Given the description of an element on the screen output the (x, y) to click on. 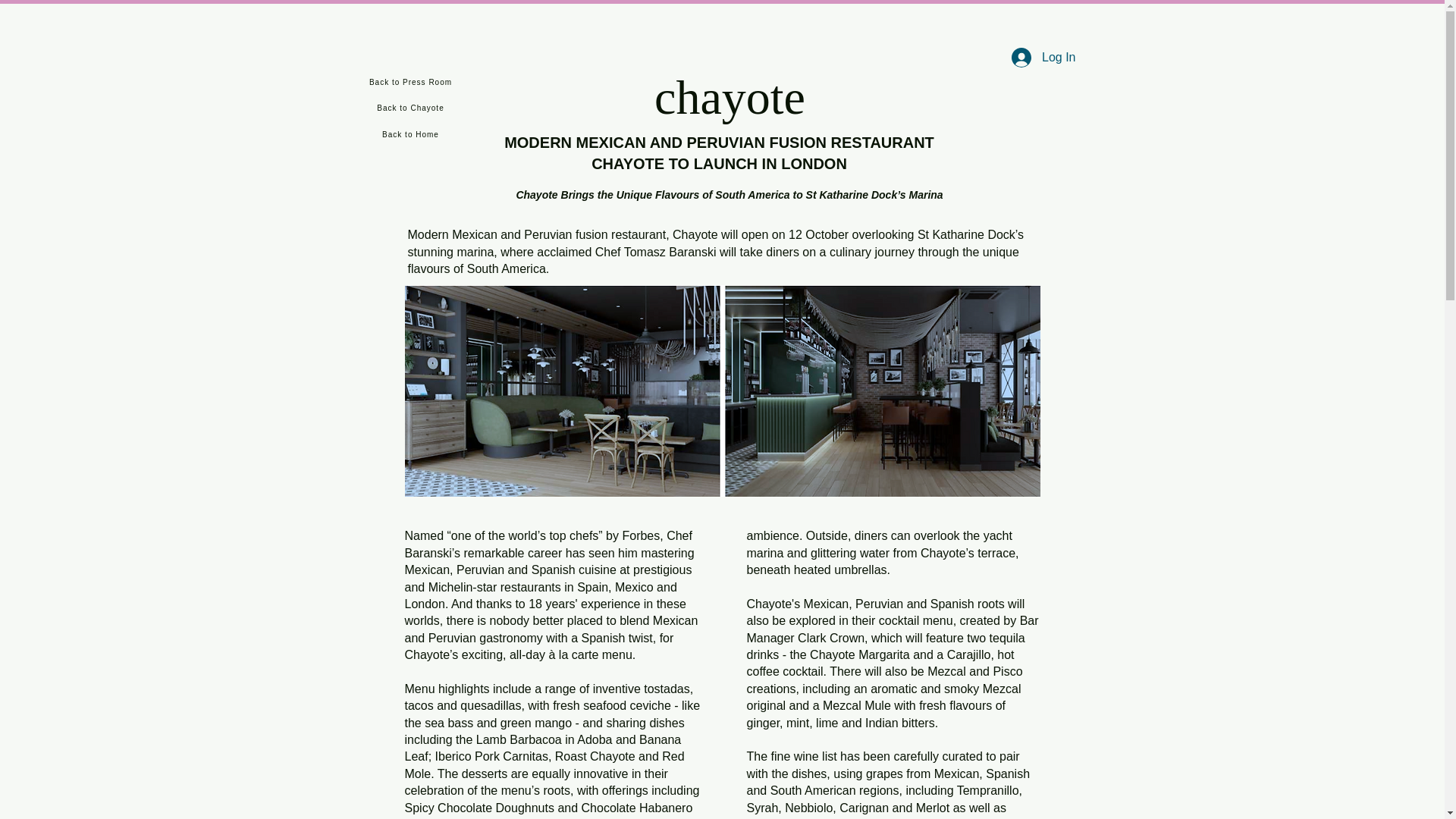
Back to Press Room (411, 81)
Back to Home (411, 134)
Back to Chayote (411, 107)
Log In (1043, 57)
